Given the description of an element on the screen output the (x, y) to click on. 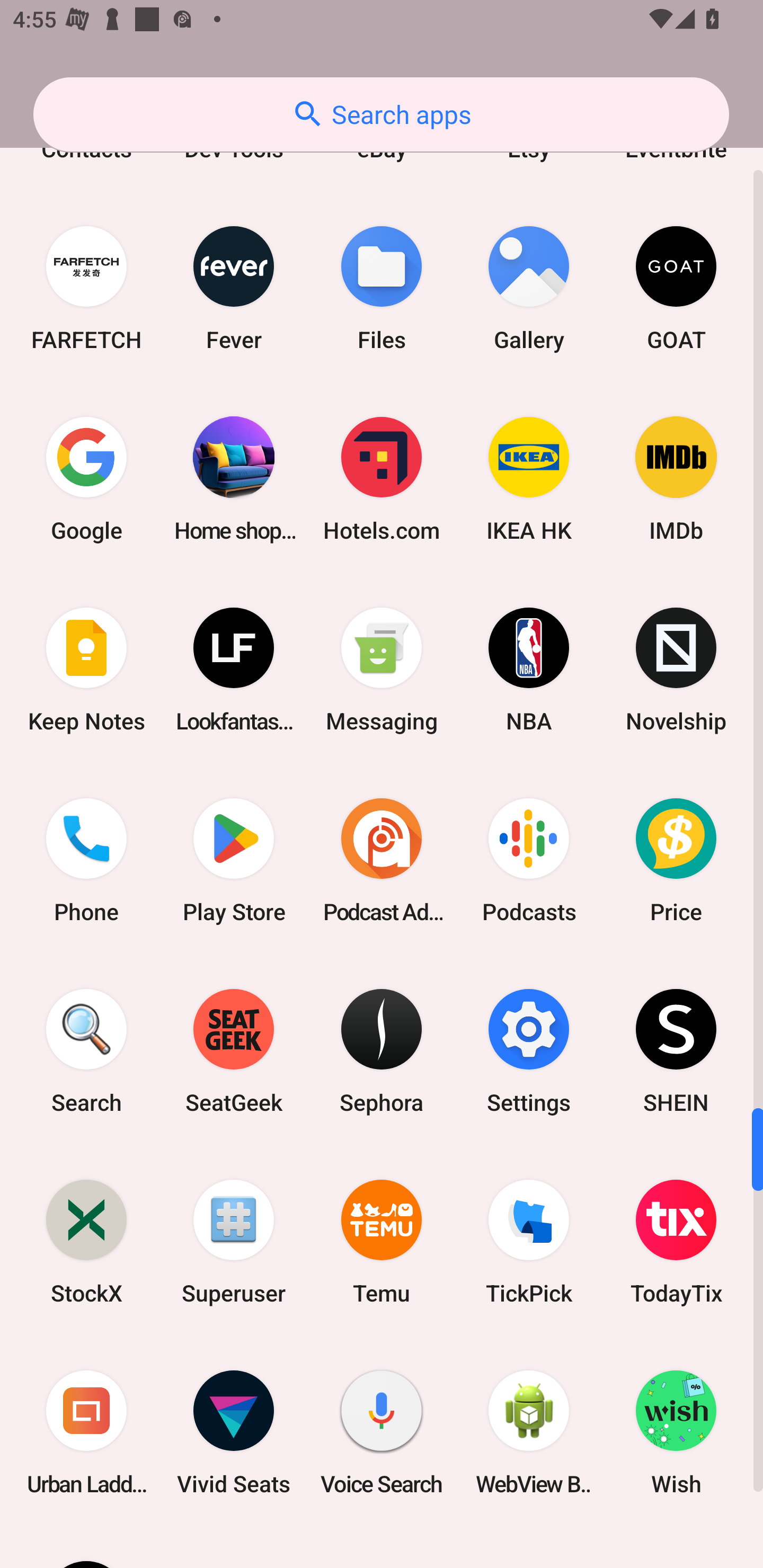
  Search apps (381, 114)
FARFETCH (86, 288)
Fever (233, 288)
Files (381, 288)
Gallery (528, 288)
GOAT (676, 288)
Google (86, 478)
Home shopping (233, 478)
Hotels.com (381, 478)
IKEA HK (528, 478)
IMDb (676, 478)
Keep Notes (86, 669)
Lookfantastic (233, 669)
Messaging (381, 669)
NBA (528, 669)
Novelship (676, 669)
Phone (86, 859)
Play Store (233, 859)
Podcast Addict (381, 859)
Podcasts (528, 859)
Price (676, 859)
Search (86, 1050)
SeatGeek (233, 1050)
Sephora (381, 1050)
Settings (528, 1050)
SHEIN (676, 1050)
StockX (86, 1241)
Superuser (233, 1241)
Temu (381, 1241)
TickPick (528, 1241)
TodayTix (676, 1241)
Urban Ladder (86, 1432)
Vivid Seats (233, 1432)
Voice Search (381, 1432)
WebView Browser Tester (528, 1432)
Wish (676, 1432)
